Given the description of an element on the screen output the (x, y) to click on. 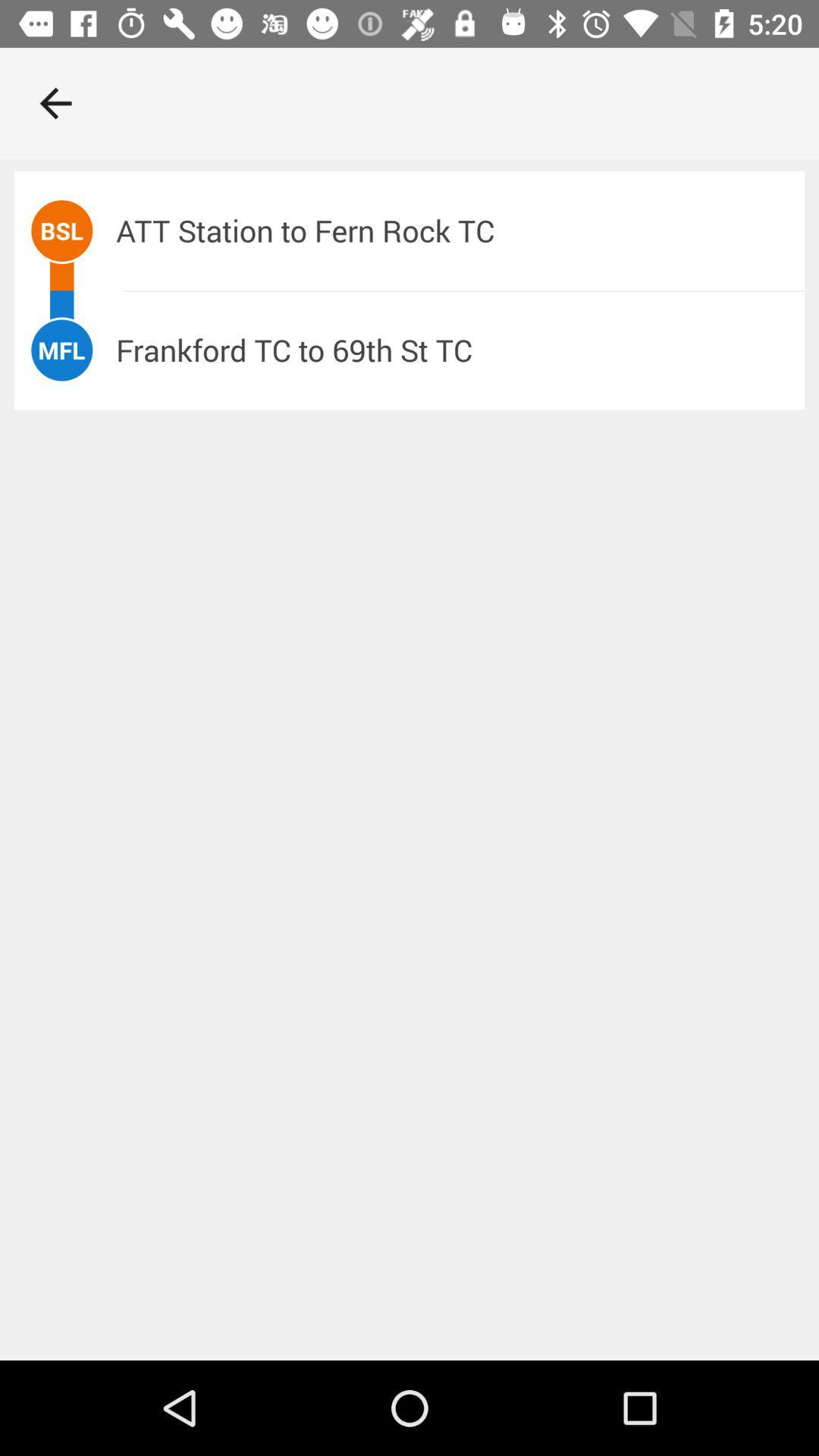
open the att station to item (460, 230)
